Given the description of an element on the screen output the (x, y) to click on. 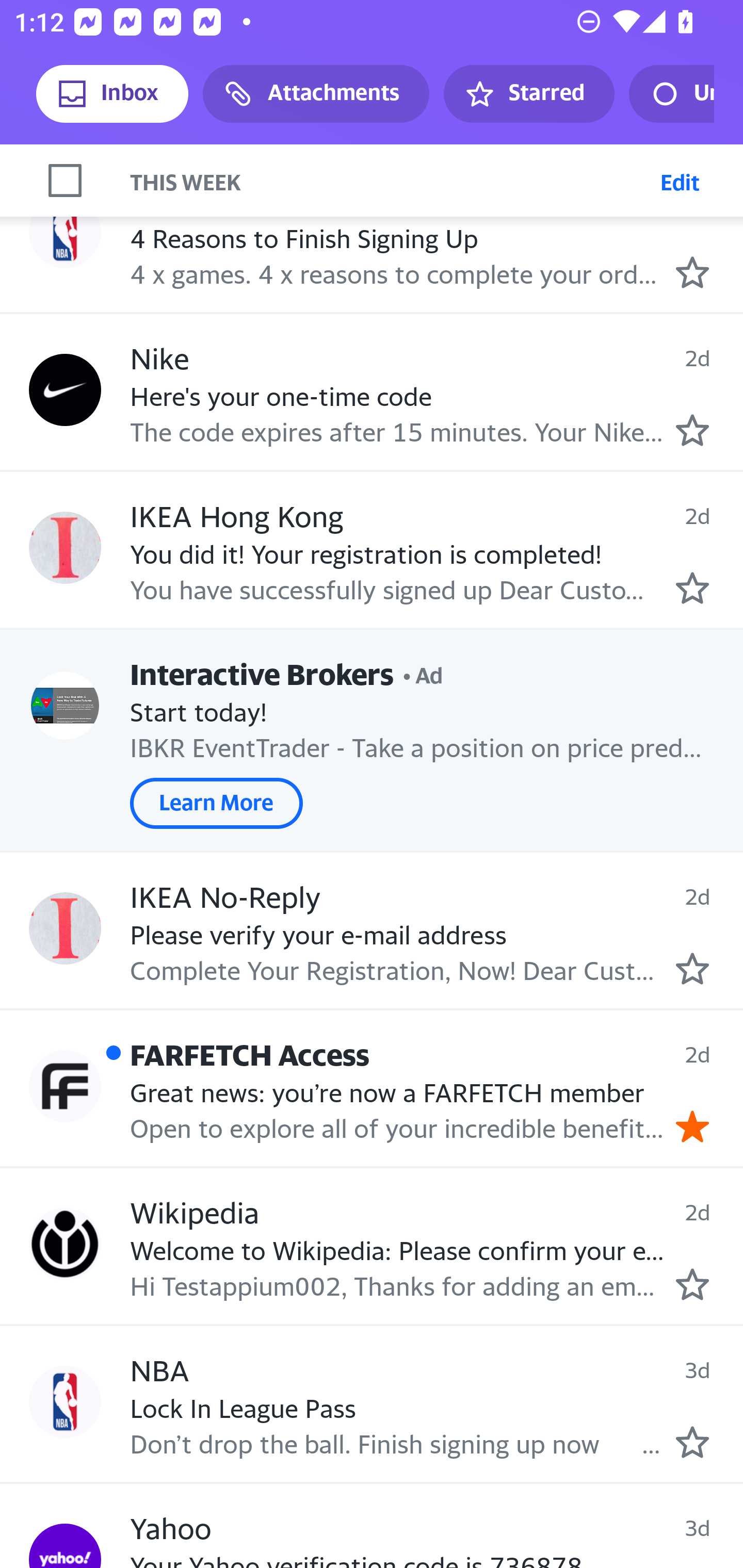
Attachments (315, 93)
Starred (528, 93)
Profile
NBA (64, 232)
Mark as starred. (692, 272)
Profile
Nike (64, 390)
Mark as starred. (692, 430)
Profile
IKEA Hong Kong (64, 547)
Mark as starred. (692, 587)
Profile
IKEA No-Reply (64, 928)
Mark as starred. (692, 968)
Profile
FARFETCH Access (64, 1086)
Remove star. (692, 1126)
Profile
Wikipedia (64, 1243)
Mark as starred. (692, 1284)
Profile
NBA (64, 1401)
Mark as starred. (692, 1441)
Profile
Yahoo (64, 1546)
